Given the description of an element on the screen output the (x, y) to click on. 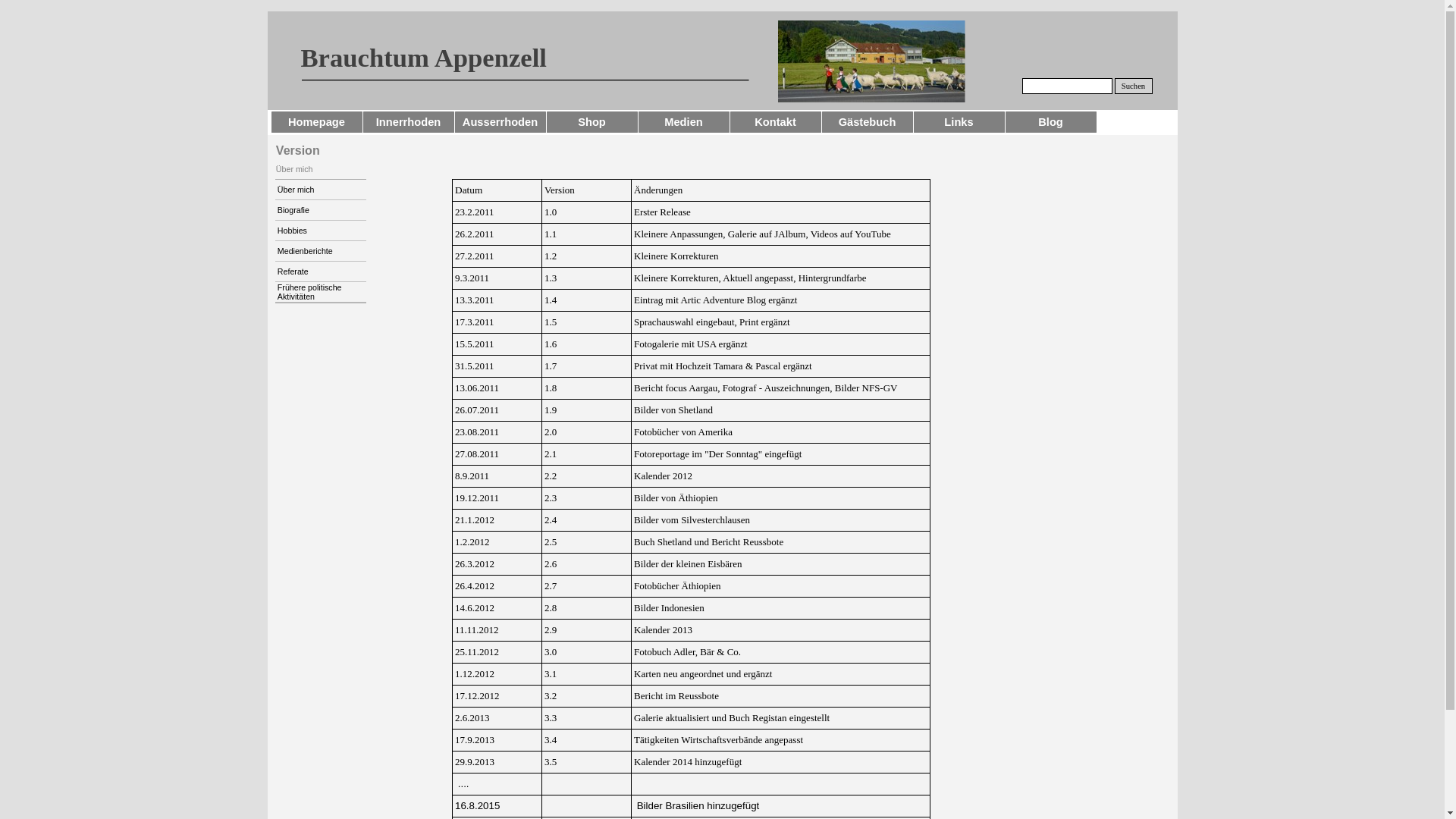
Hobbies Element type: text (320, 230)
Medienberichte Element type: text (320, 250)
Referate Element type: text (320, 271)
Medien Element type: text (683, 121)
Homepage Element type: text (316, 121)
Blog Element type: text (1050, 121)
Biografie Element type: text (320, 209)
Suchen Element type: text (1133, 86)
Links Element type: text (958, 121)
Kontakt Element type: text (774, 121)
Innerrhoden Element type: text (407, 121)
Ausserrhoden Element type: text (500, 121)
Shop Element type: text (591, 121)
